Given the description of an element on the screen output the (x, y) to click on. 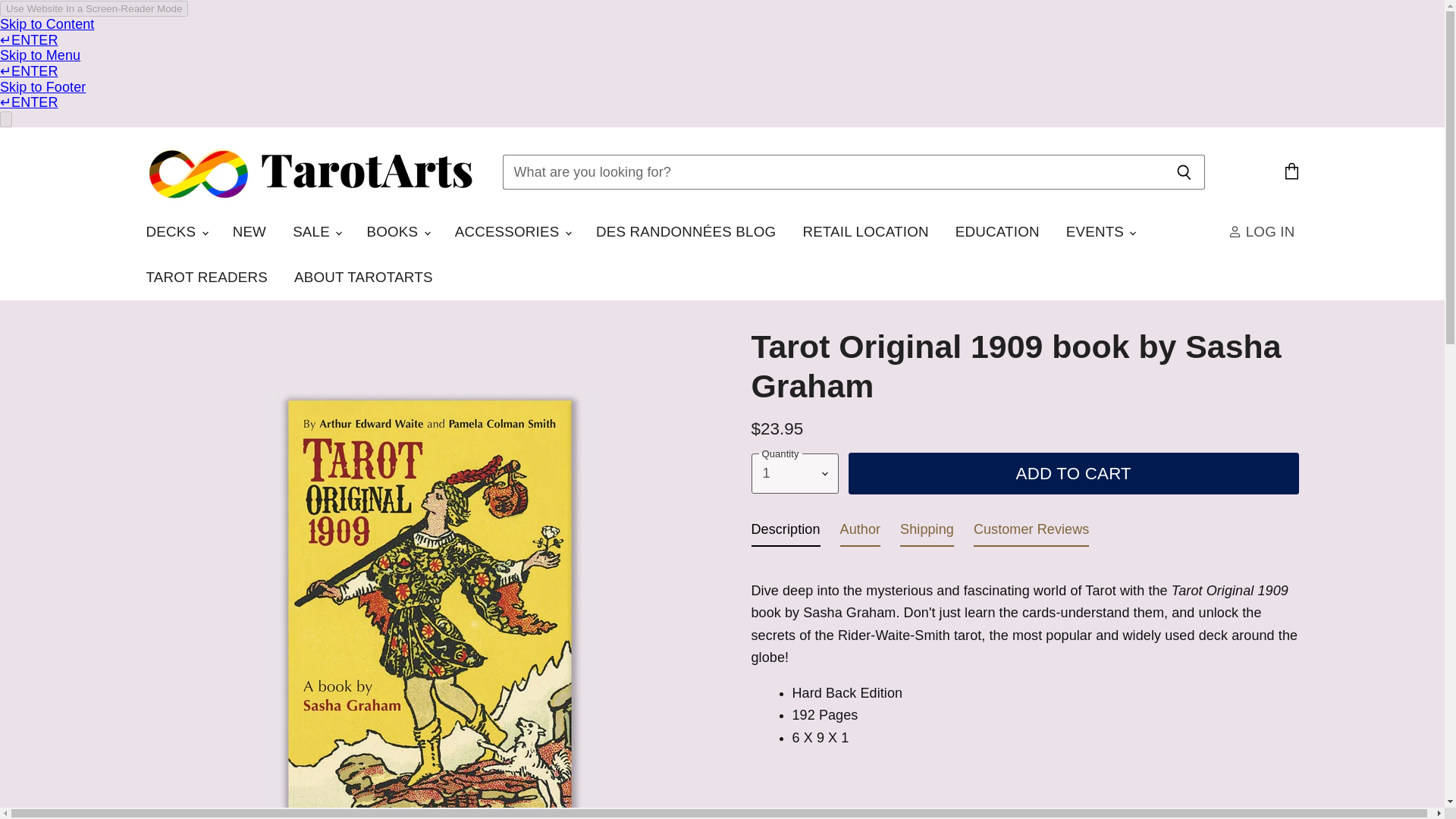
DECKS (175, 231)
ACCOUNT ICON (1234, 231)
